Given the description of an element on the screen output the (x, y) to click on. 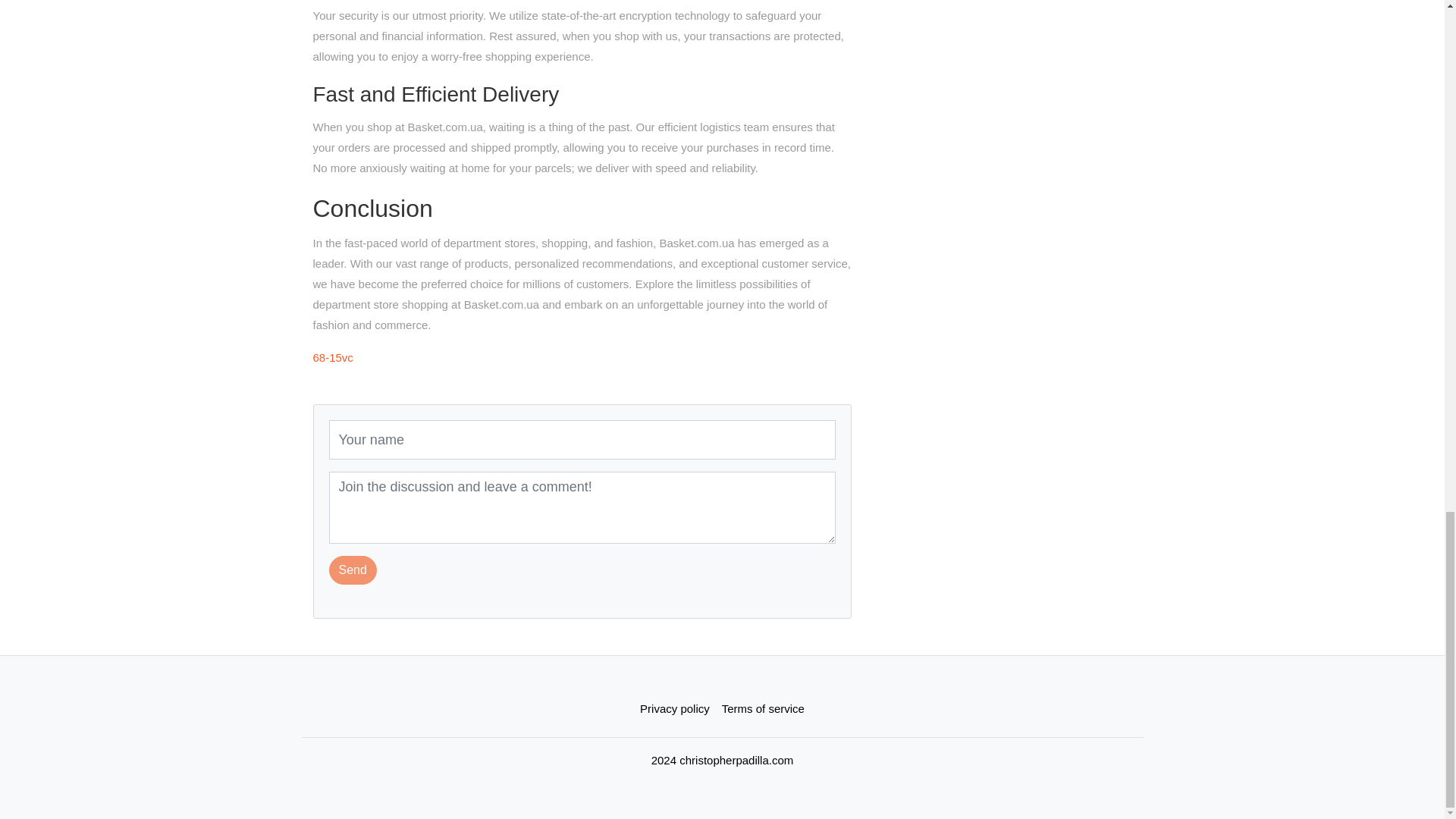
Send (353, 570)
68-15vc (332, 357)
Privacy policy (674, 708)
Terms of service (763, 708)
Send (353, 570)
